Given the description of an element on the screen output the (x, y) to click on. 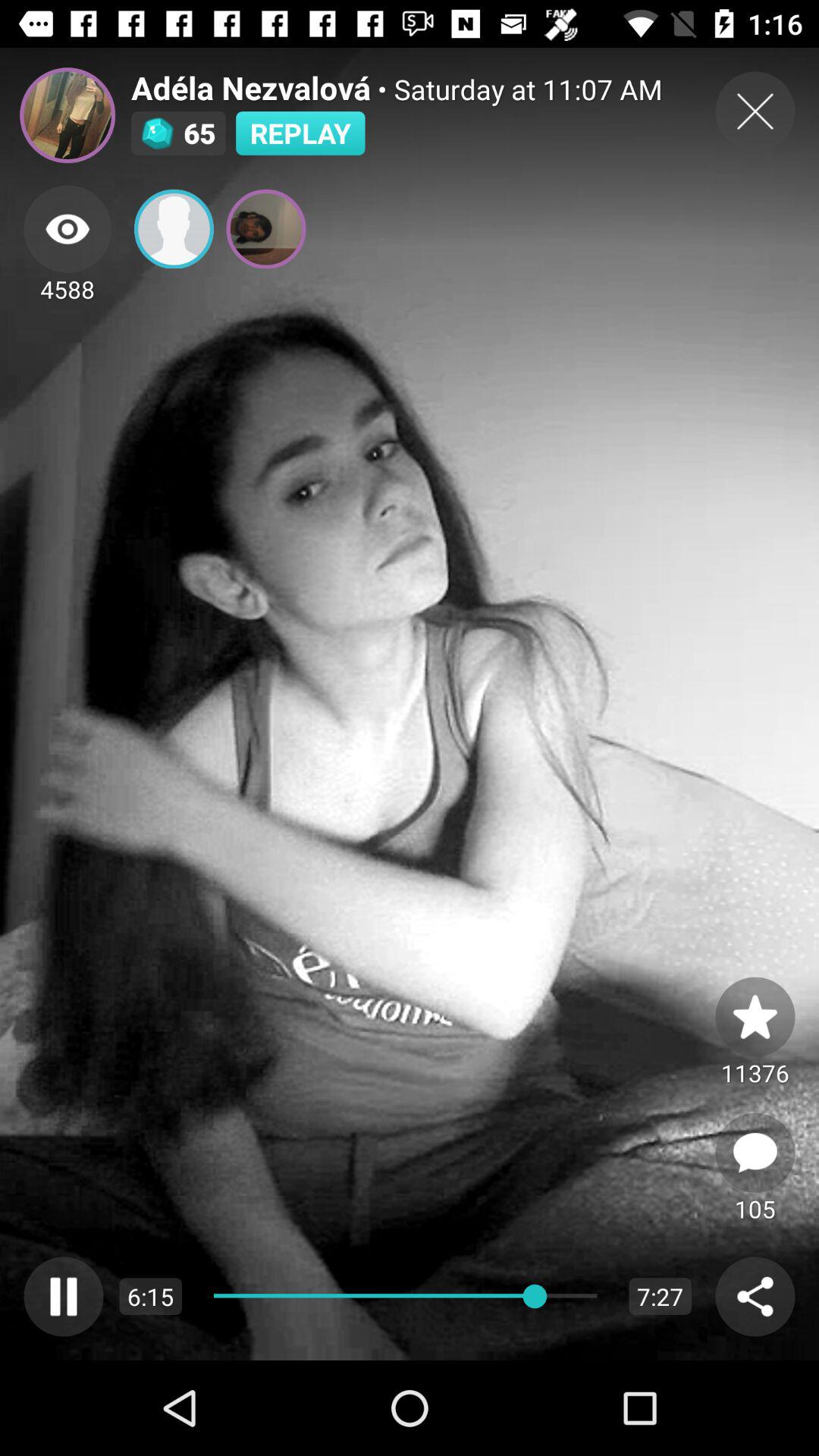
open profile picture (67, 115)
